Given the description of an element on the screen output the (x, y) to click on. 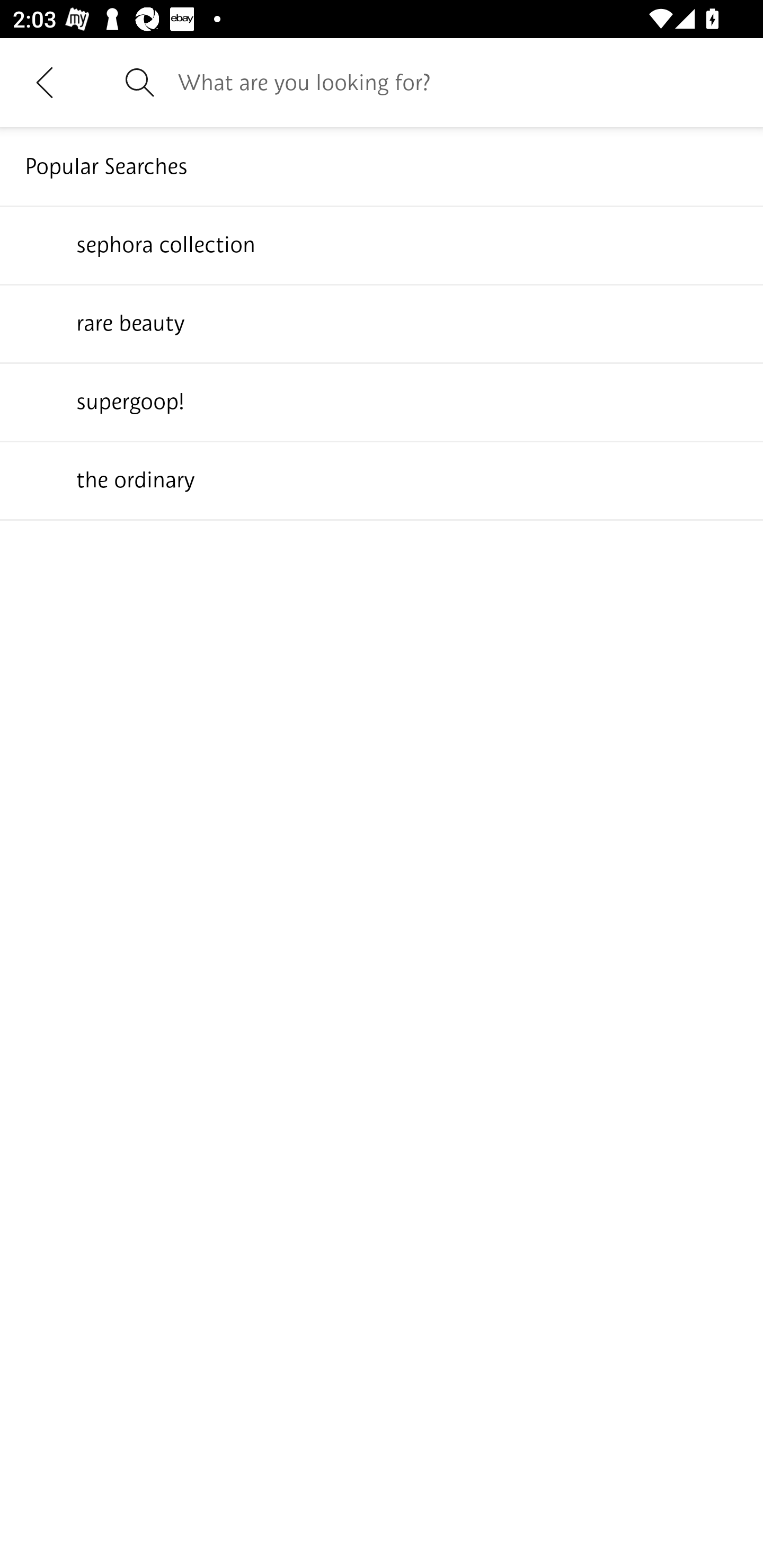
Navigate up (44, 82)
What are you looking for? (457, 82)
sephora collection (381, 244)
rare beauty (381, 322)
supergoop! (381, 401)
the ordinary (381, 479)
